Given the description of an element on the screen output the (x, y) to click on. 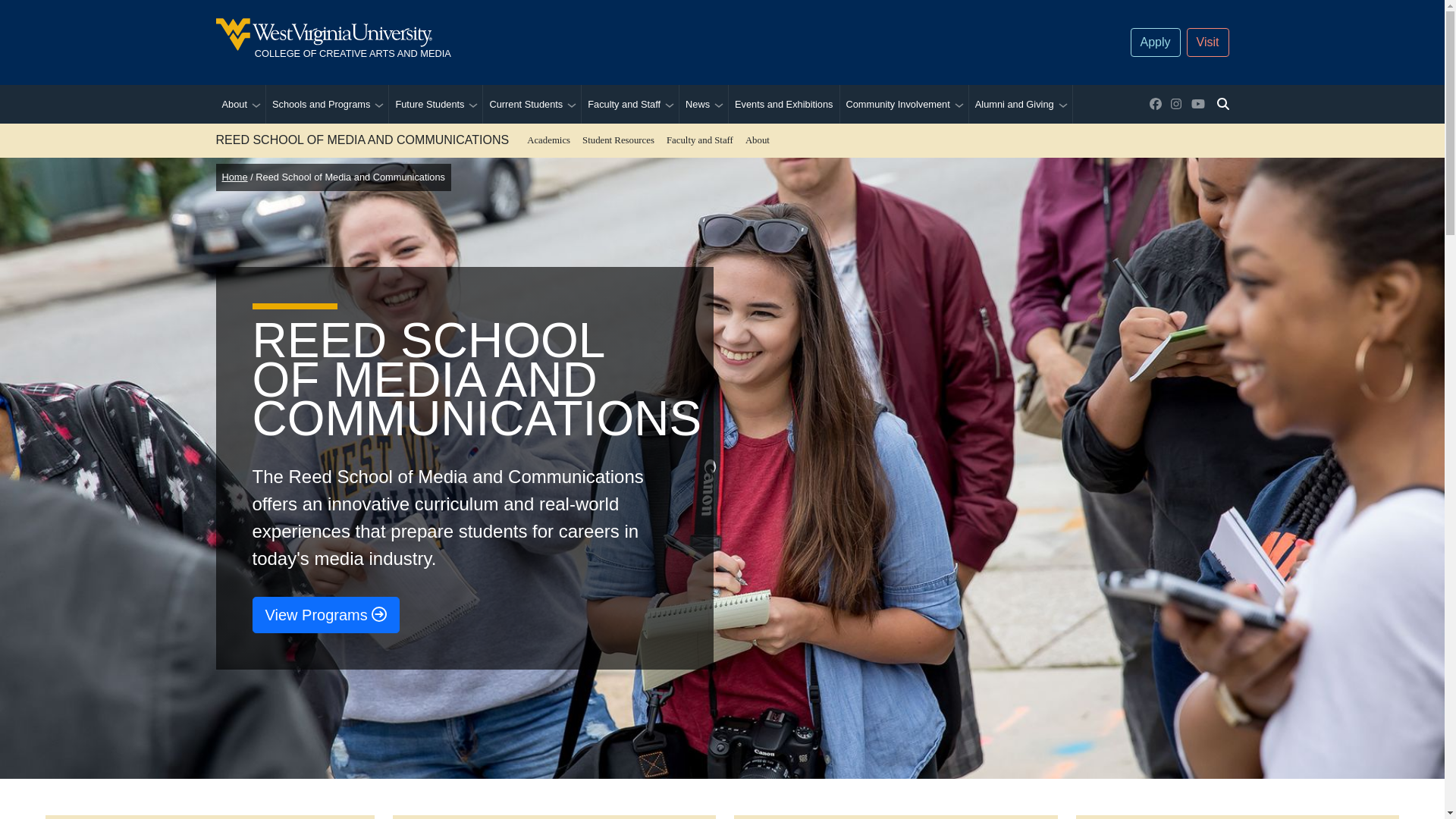
Apply (1155, 41)
Visit (1207, 41)
Schools and Programs (550, 42)
Current Students (317, 104)
Future Students (522, 104)
